Given the description of an element on the screen output the (x, y) to click on. 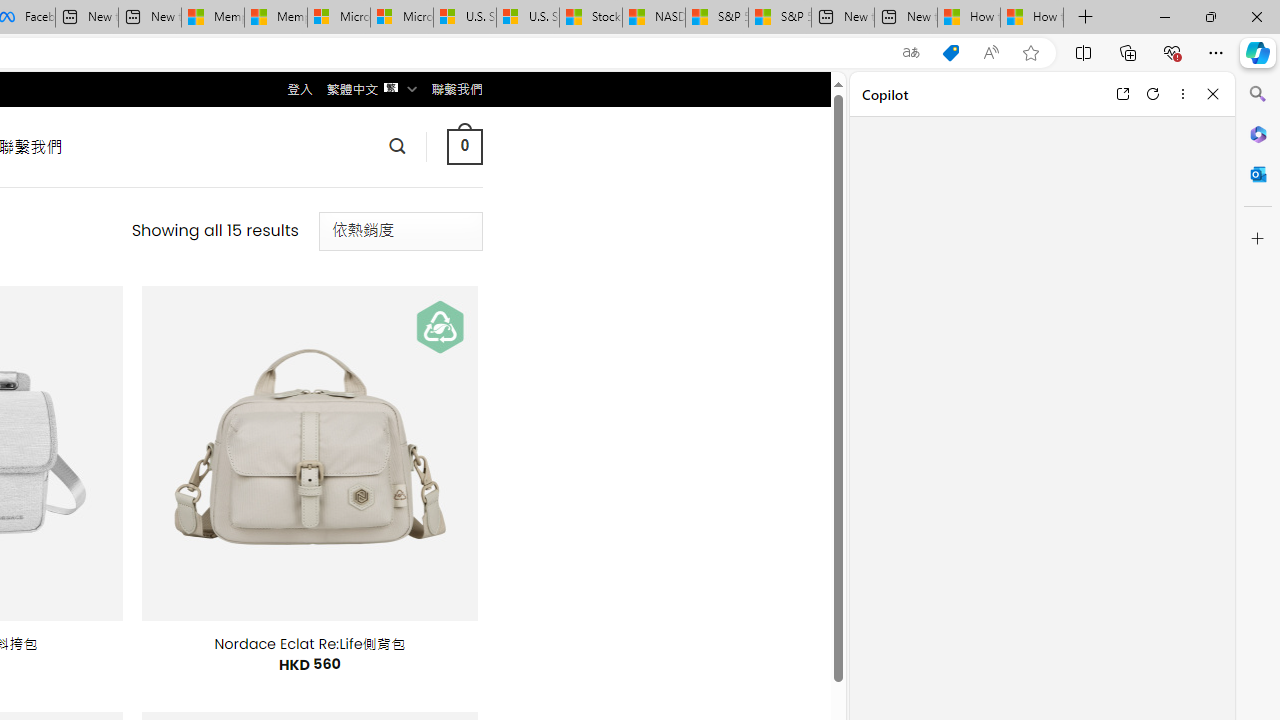
Customize (1258, 239)
Open link in new tab (1122, 93)
Show translate options (910, 53)
